Given the description of an element on the screen output the (x, y) to click on. 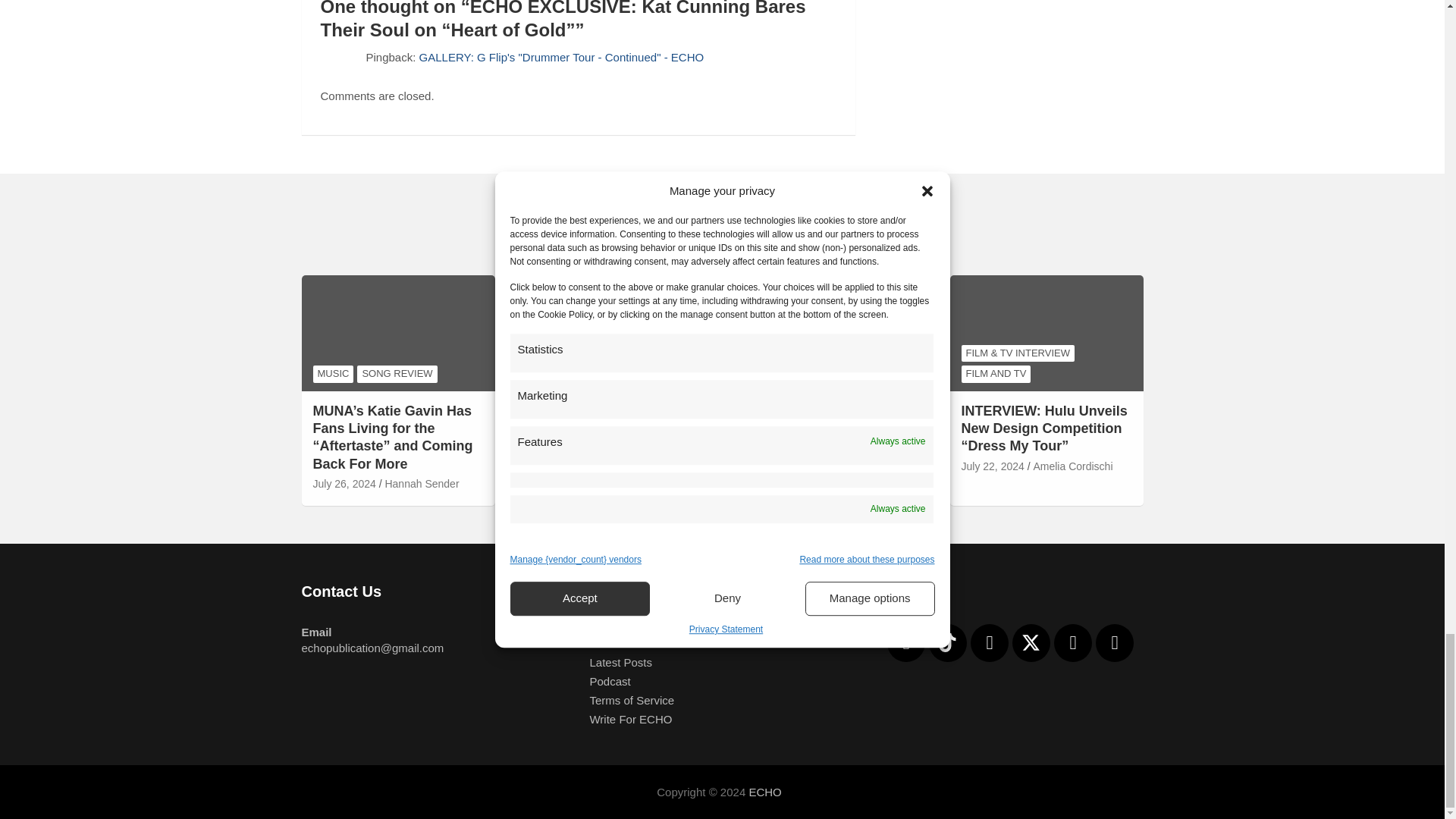
ECHO (764, 791)
